Given the description of an element on the screen output the (x, y) to click on. 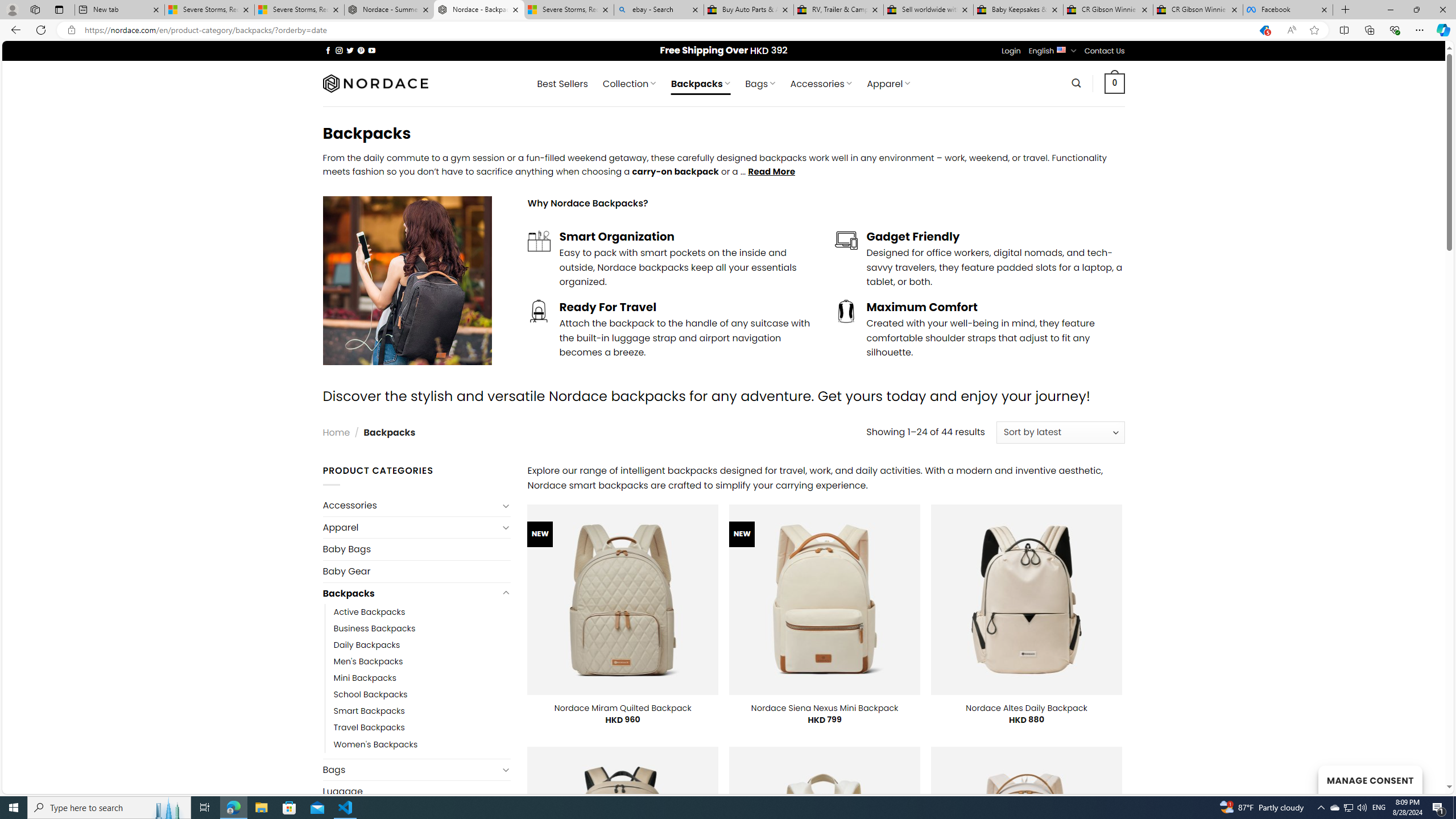
Luggage (416, 791)
Login (1010, 50)
Active Backpacks (422, 612)
Buy Auto Parts & Accessories | eBay (747, 9)
Men's Backpacks (368, 661)
Daily Backpacks (422, 645)
 Best Sellers (562, 83)
Backpacks (410, 593)
Shop order (1060, 432)
English (1061, 49)
